Given the description of an element on the screen output the (x, y) to click on. 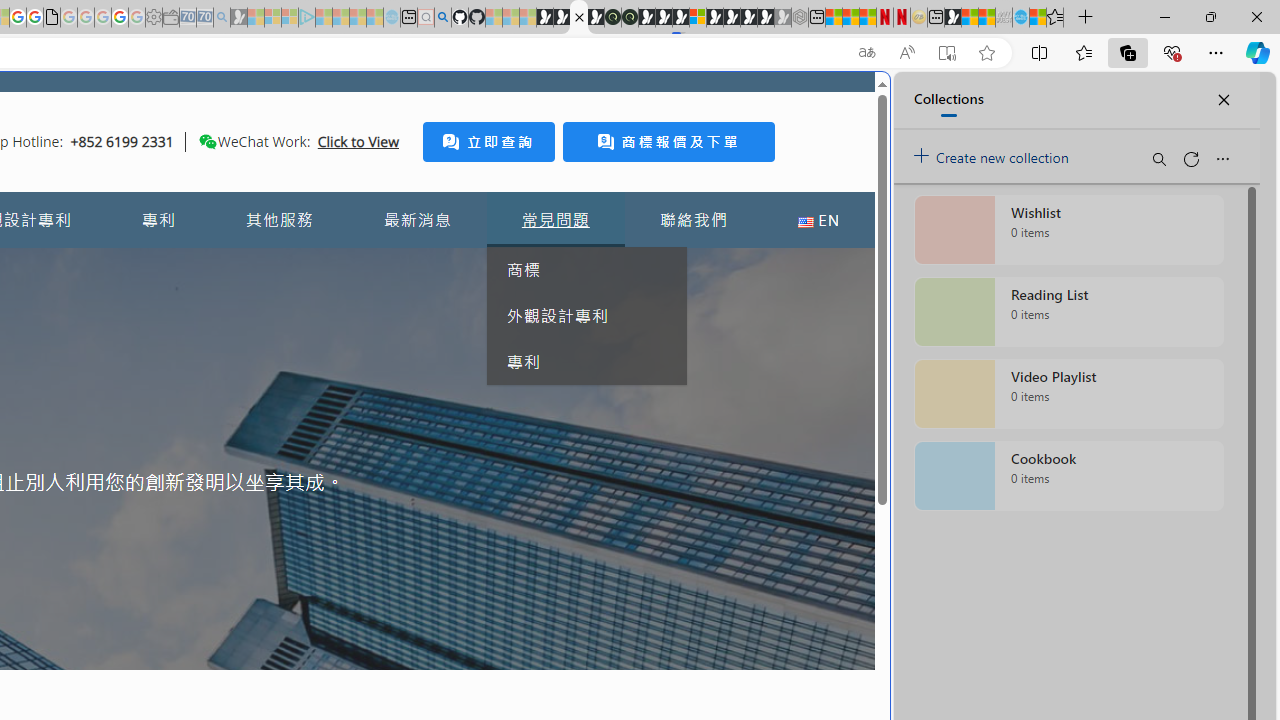
Play Cave FRVR in your browser | Games from Microsoft Start (343, 426)
Play Cave FRVR in your browser | Games from Microsoft Start (663, 17)
Cheap Car Rentals - Save70.com - Sleeping (204, 17)
github - Search (442, 17)
Sign in to your account (697, 17)
google_privacy_policy_zh-CN.pdf (51, 17)
